Given the description of an element on the screen output the (x, y) to click on. 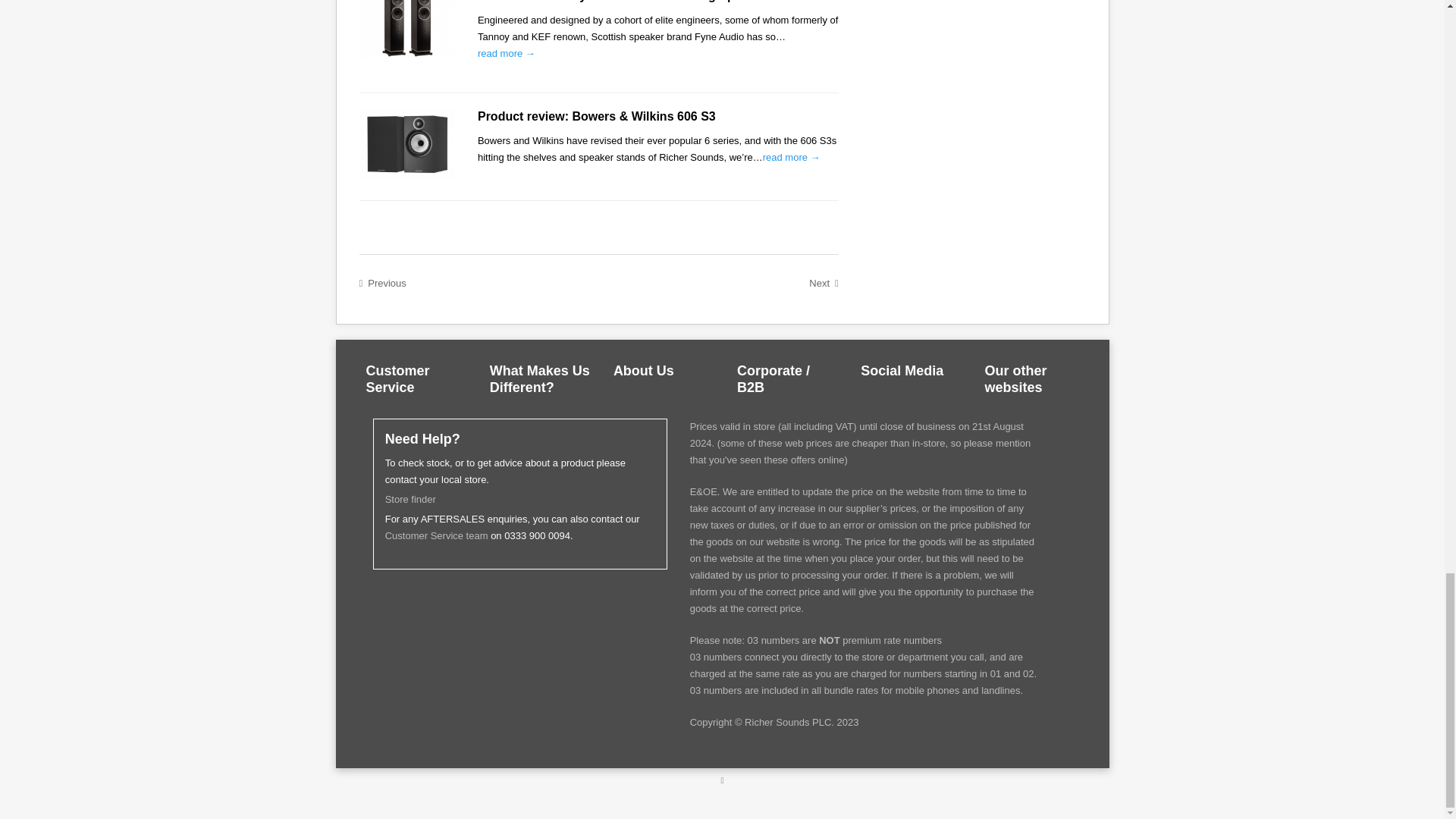
Previous (382, 283)
Product review: Fyne F502 Floorstanding Speakers (406, 32)
Product review: Fyne F502 Floorstanding Speakers (506, 52)
Next (823, 283)
